Given the description of an element on the screen output the (x, y) to click on. 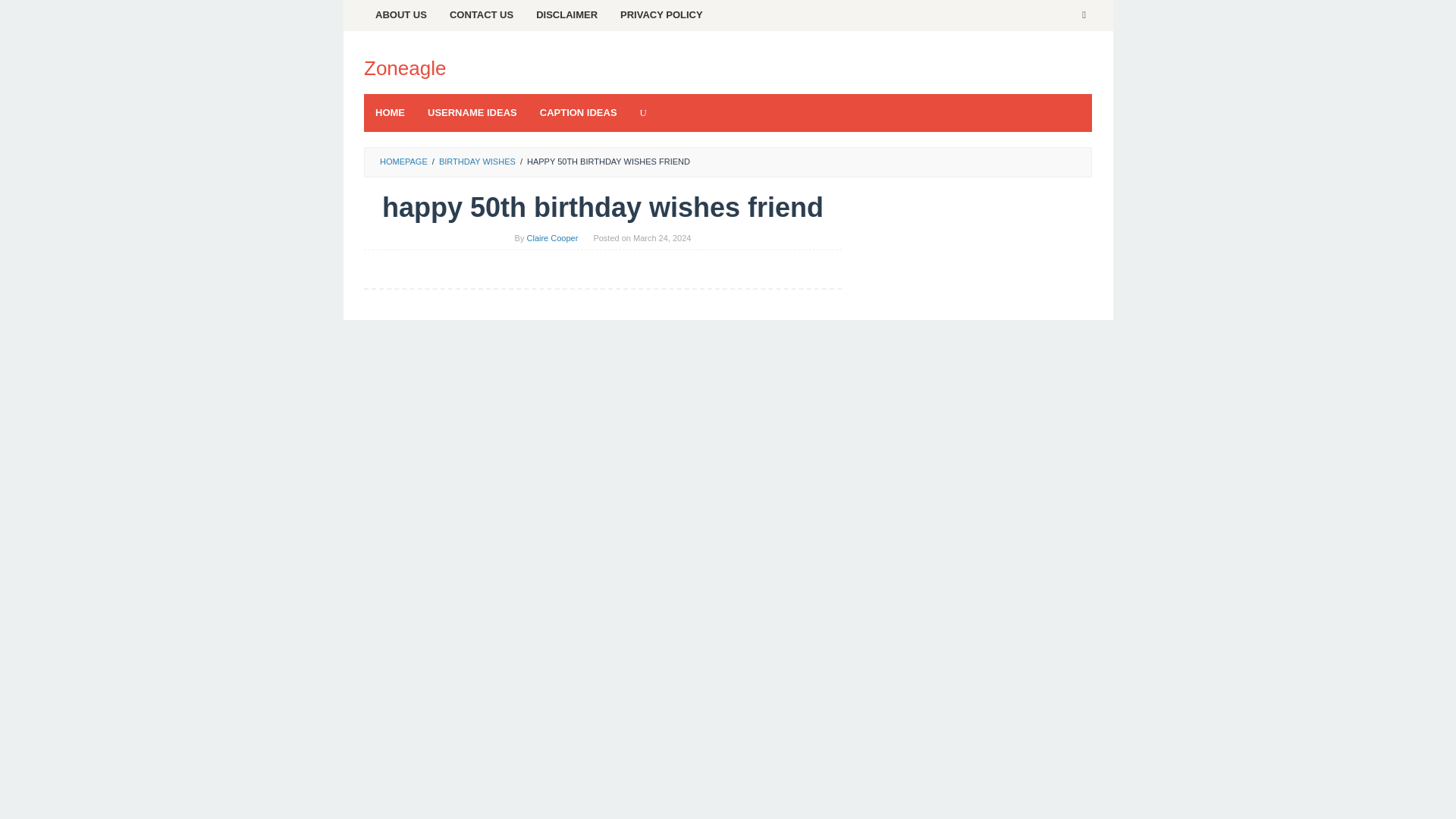
Claire Cooper (551, 237)
ABOUT US (401, 15)
Zoneagle (404, 67)
PRIVACY POLICY (661, 15)
HOMEPAGE (404, 161)
CAPTION IDEAS (578, 112)
USERNAME IDEAS (472, 112)
CONTACT US (481, 15)
Permalink to: Claire Cooper (551, 237)
DISCLAIMER (566, 15)
HOME (390, 112)
Zoneagle (404, 67)
BIRTHDAY WISHES (477, 161)
